Given the description of an element on the screen output the (x, y) to click on. 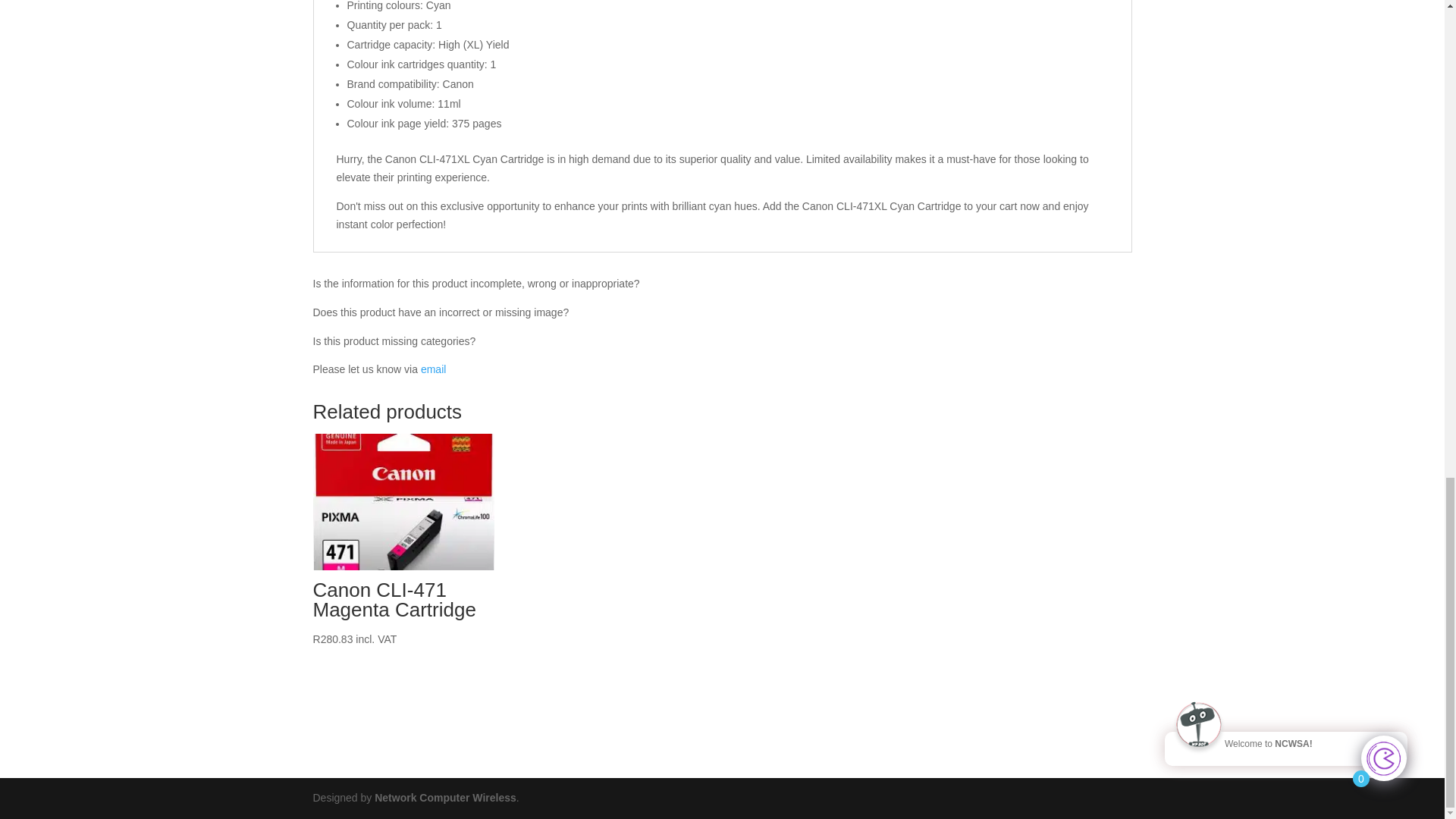
Wrong product details (432, 369)
